Given the description of an element on the screen output the (x, y) to click on. 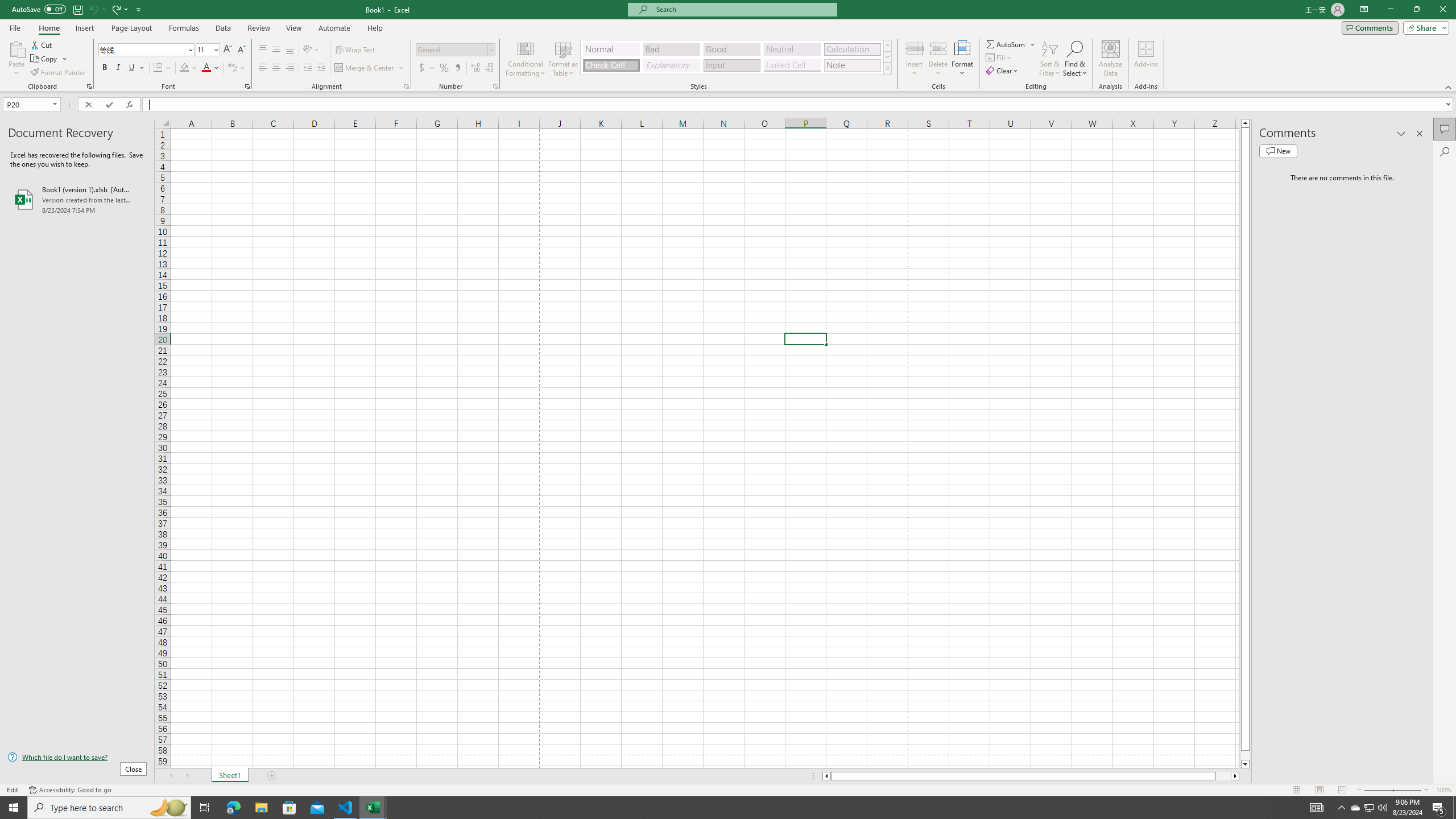
Font (142, 49)
Middle Align (276, 49)
Fill Color (188, 67)
Format Cell Font (247, 85)
Open (54, 104)
Cell Styles (887, 68)
Font Color RGB(255, 0, 0) (206, 67)
Merge & Center (365, 67)
Scroll Left (171, 775)
Which file do I want to save? (77, 757)
Conditional Formatting (525, 58)
Underline (131, 67)
Number Format (455, 49)
Neutral (791, 49)
Close pane (1419, 133)
